Given the description of an element on the screen output the (x, y) to click on. 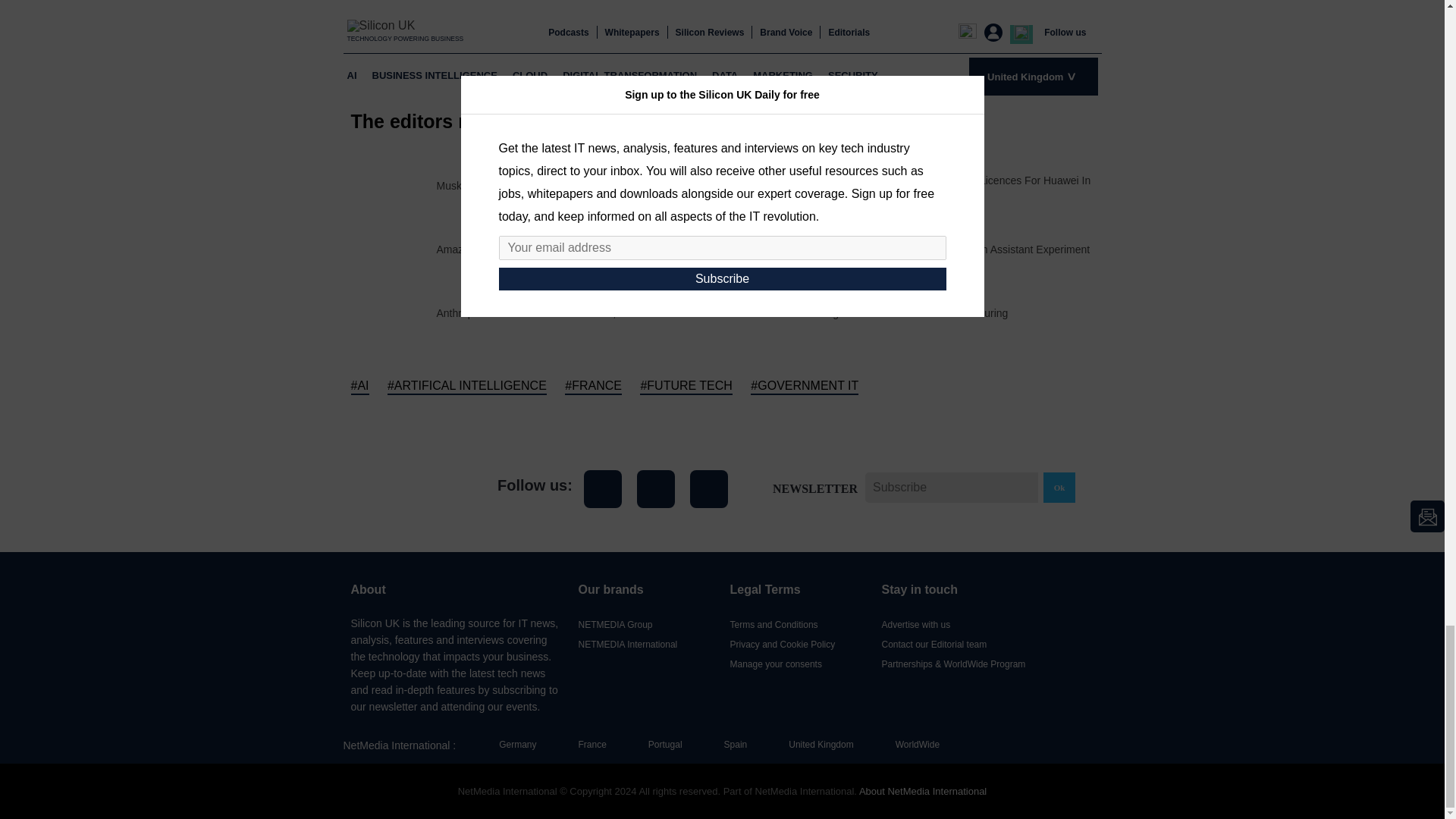
Silicon UK (408, 489)
Anthropic Launches Newest AI Model, Claude 3.5 Sonnet (571, 312)
Musk Confirms Robotaxi Delay For Design Change (556, 185)
Intelligent Machines: AI and Manufacturing (908, 312)
